Given the description of an element on the screen output the (x, y) to click on. 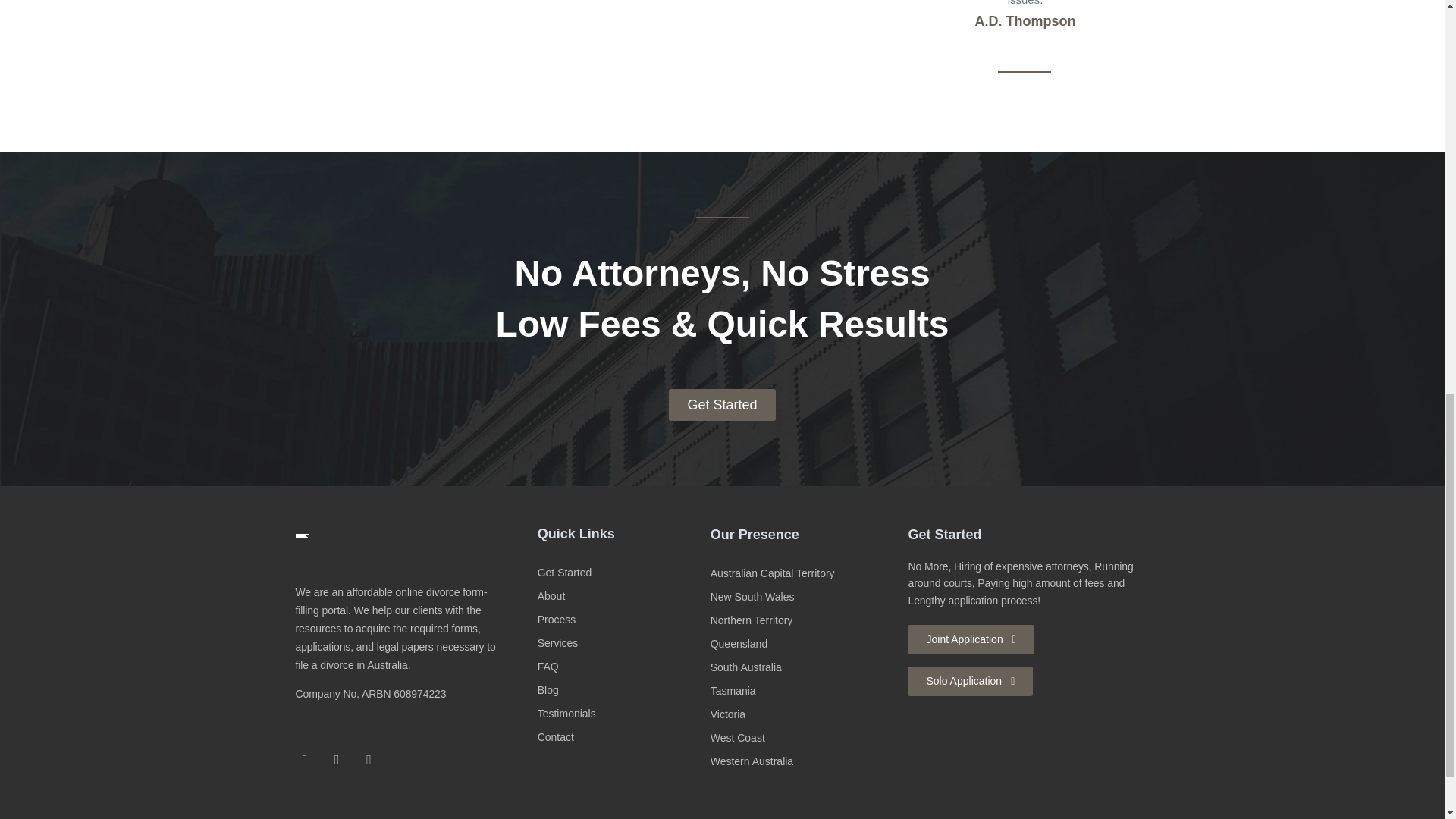
Northern Territory (802, 620)
Australian Capital Territory (802, 573)
Contact (620, 737)
Get Started (721, 404)
Get Started (620, 572)
FAQ (620, 666)
Testimonials (620, 713)
Process (620, 619)
Blog (620, 690)
About (620, 596)
